Given the description of an element on the screen output the (x, y) to click on. 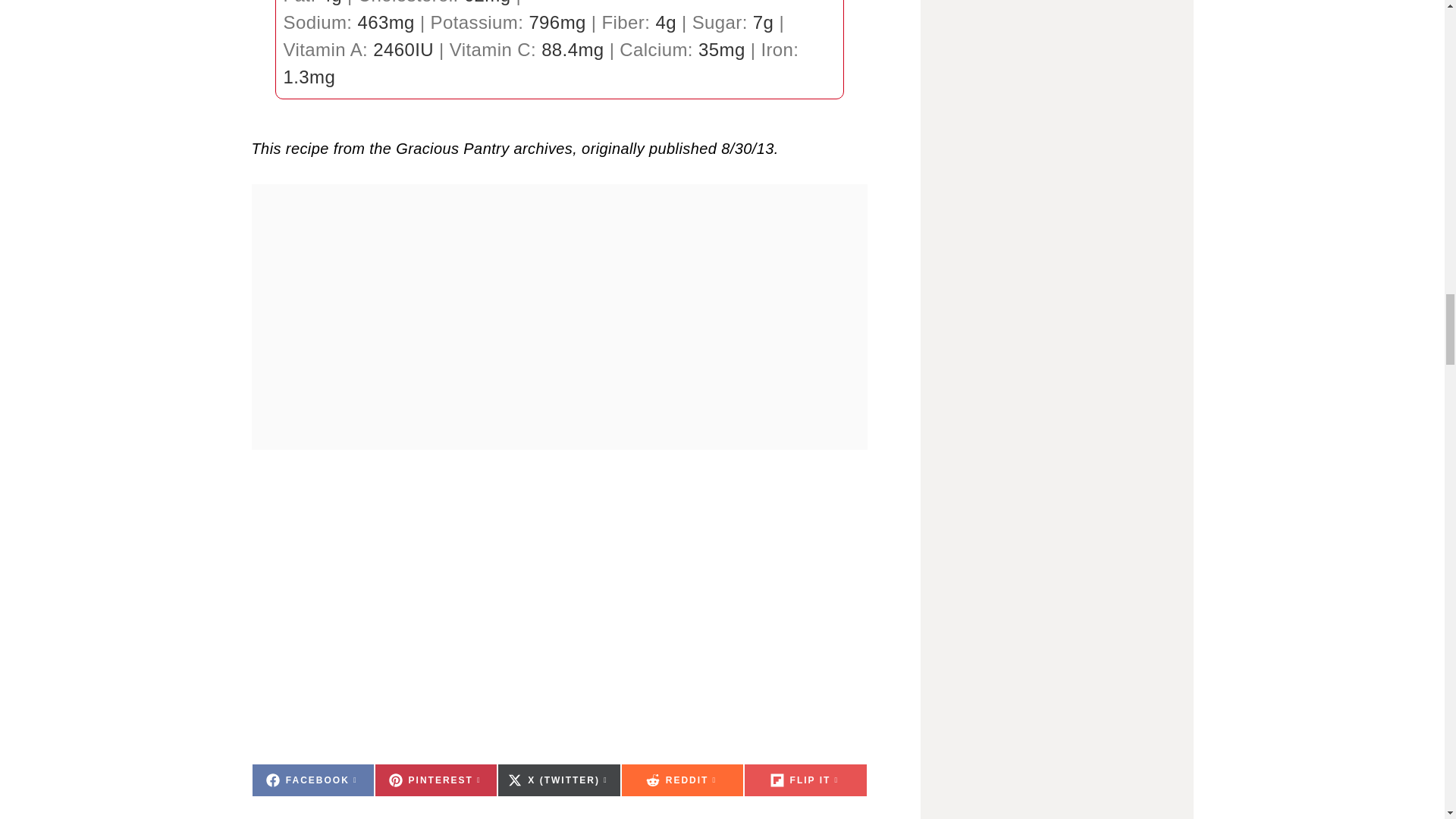
 External link. Opens in a new tab. (312, 779)
